Given the description of an element on the screen output the (x, y) to click on. 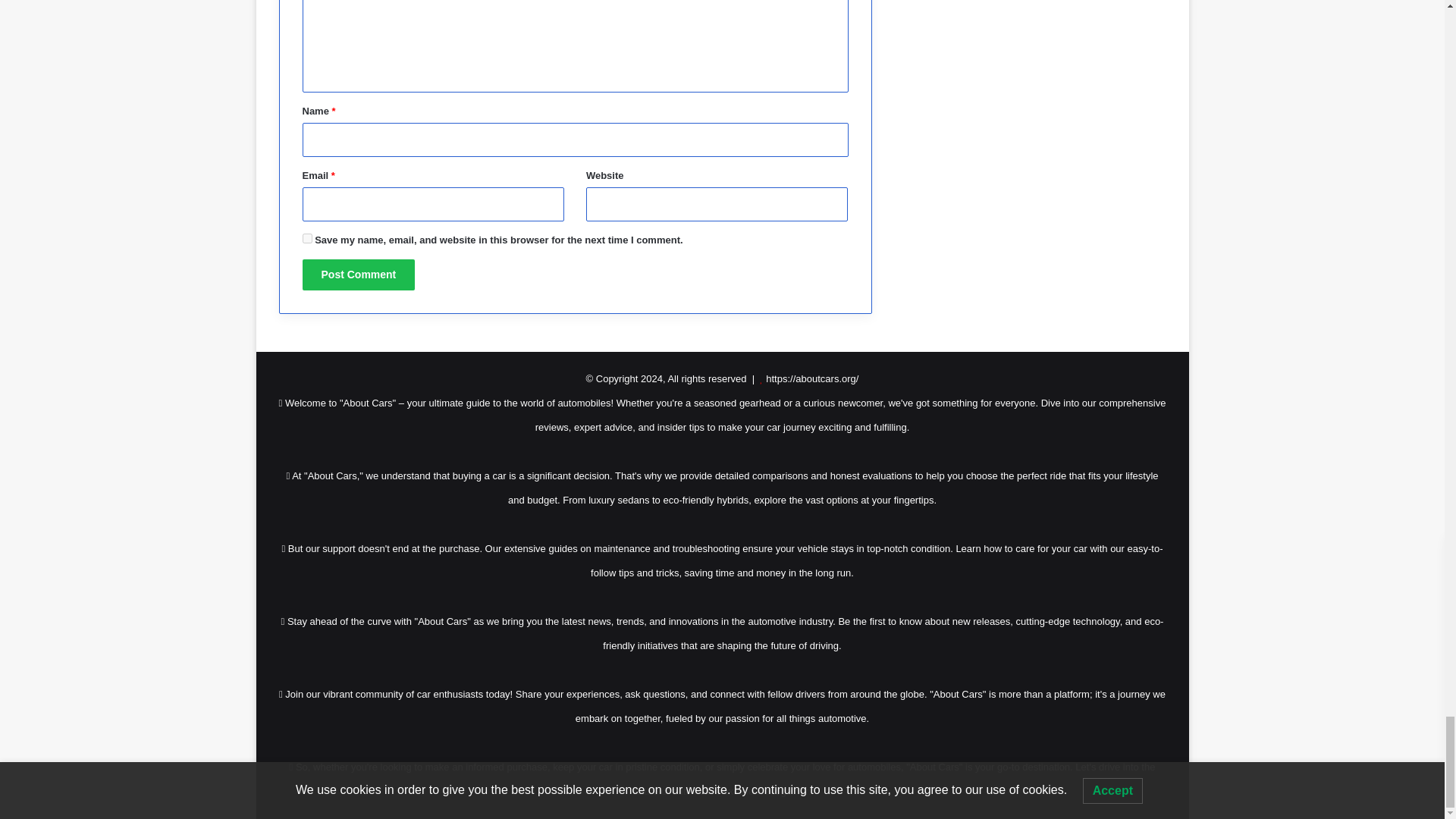
yes (306, 238)
Post Comment (357, 274)
